Given the description of an element on the screen output the (x, y) to click on. 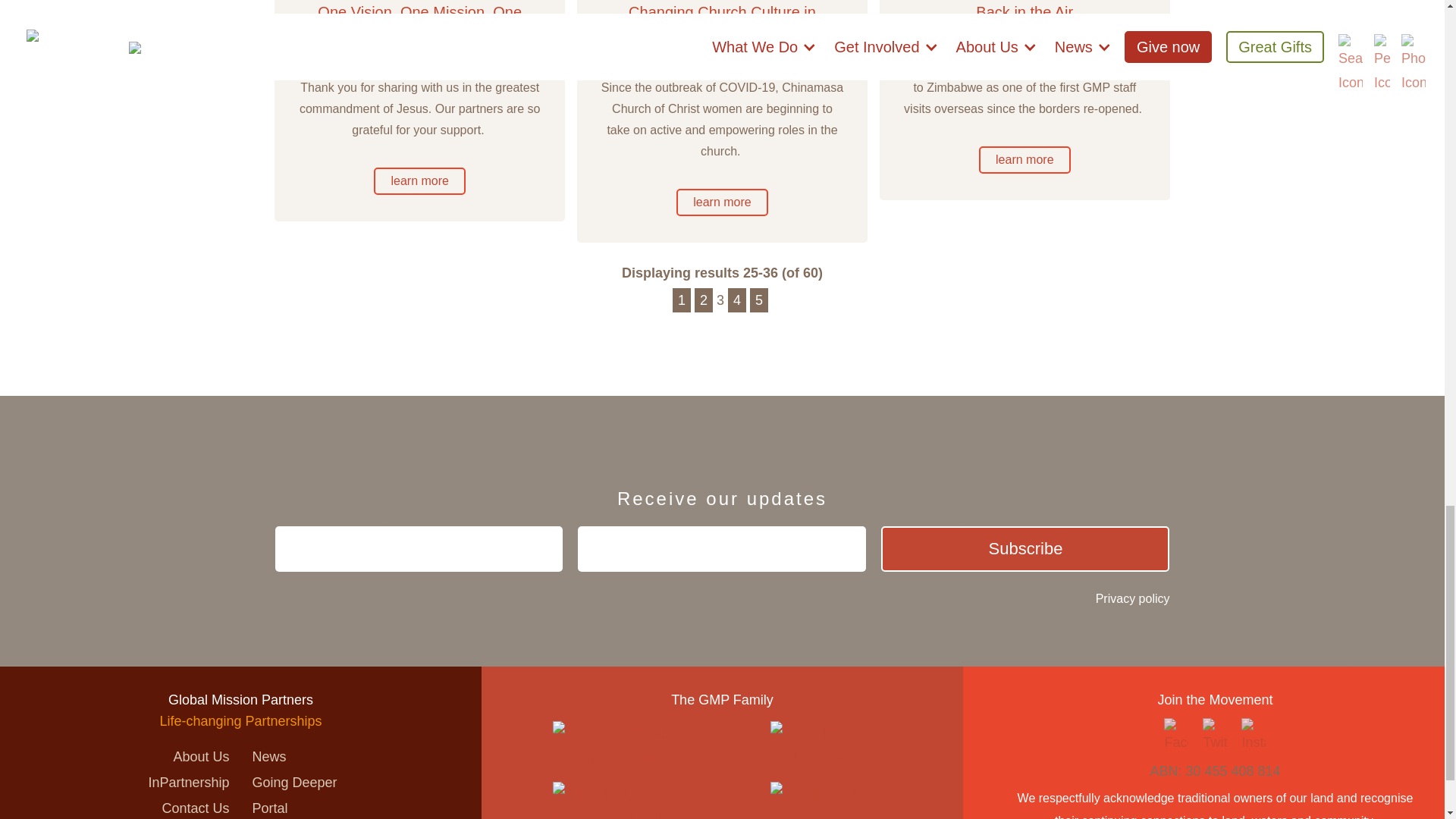
The email address of the subscriber. (722, 556)
Subscribe (1024, 548)
